Given the description of an element on the screen output the (x, y) to click on. 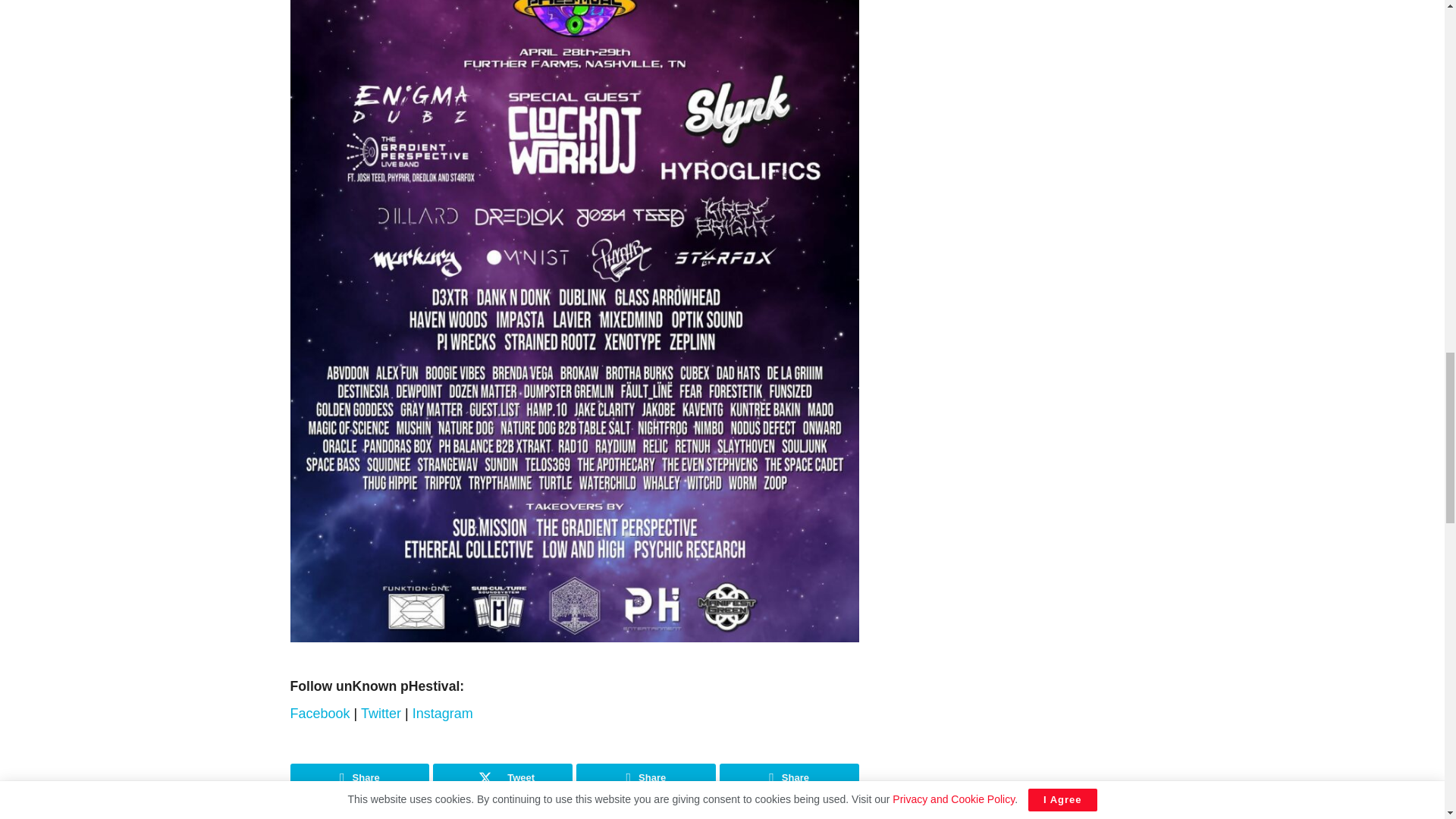
Tweet (502, 777)
Facebook (321, 713)
Share (359, 777)
Instagram  (444, 713)
Share (646, 777)
Twitter  (382, 713)
